Given the description of an element on the screen output the (x, y) to click on. 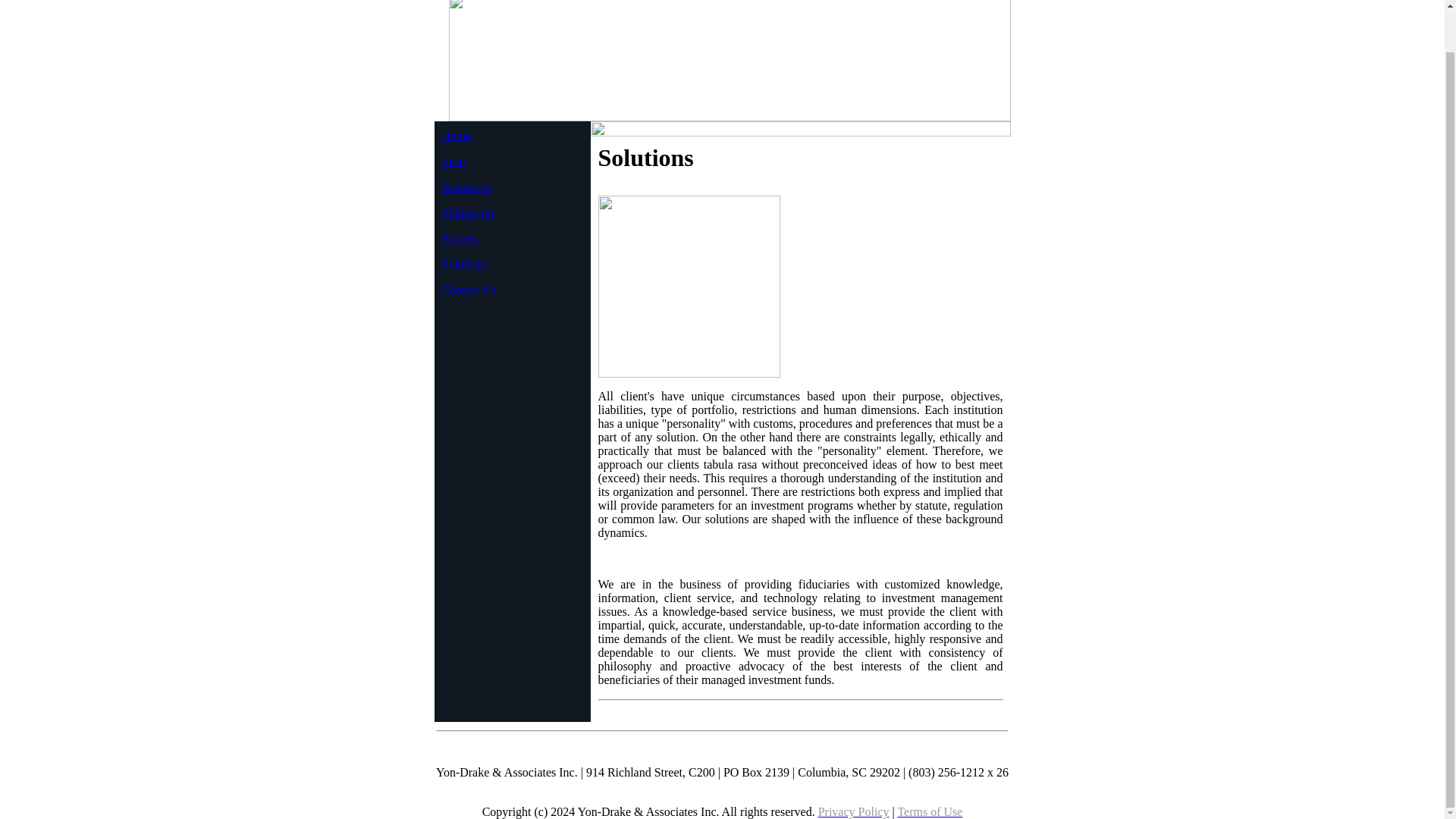
Terms of Use (929, 811)
Philosophy (468, 212)
Contact Us (468, 289)
Solutions (463, 264)
Resources (466, 186)
Firm (452, 160)
Home (455, 134)
Privacy Policy (853, 811)
Process (460, 237)
